Given the description of an element on the screen output the (x, y) to click on. 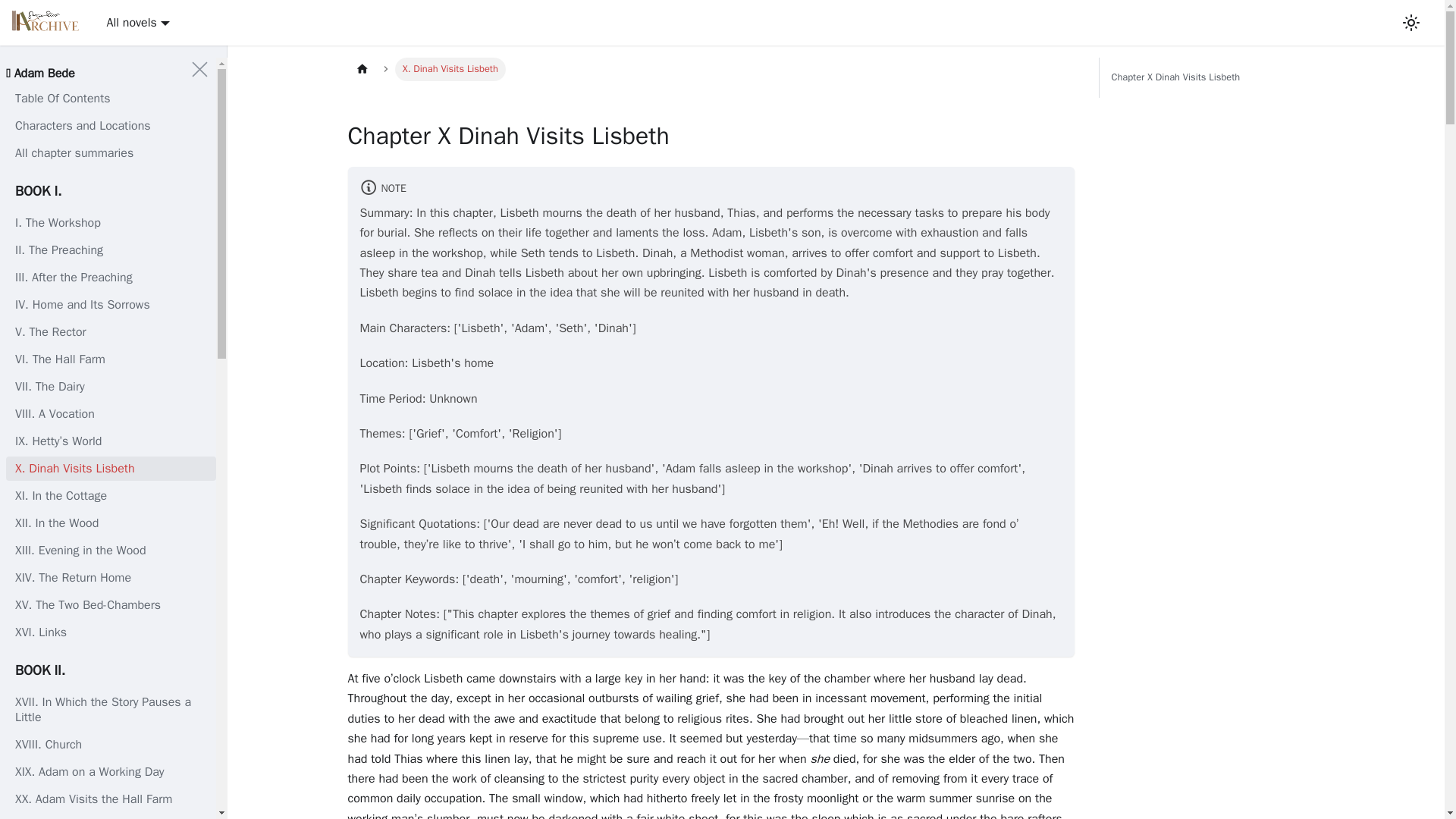
XV. The Two Bed-Chambers (110, 604)
IV. Home and Its Sorrows (110, 304)
V. The Rector (110, 331)
X. Dinah Visits Lisbeth (110, 468)
VII. The Dairy (110, 386)
III. After the Preaching (110, 277)
XIX. Adam on a Working Day (110, 771)
I. The Workshop (110, 222)
XVIII. Church (110, 744)
All novels (137, 22)
Characters and Locations (110, 125)
XVI. Links (110, 631)
XX. Adam Visits the Hall Farm (110, 799)
Chapter X Dinah Visits Lisbeth (1210, 77)
Table Of Contents (110, 98)
